Given the description of an element on the screen output the (x, y) to click on. 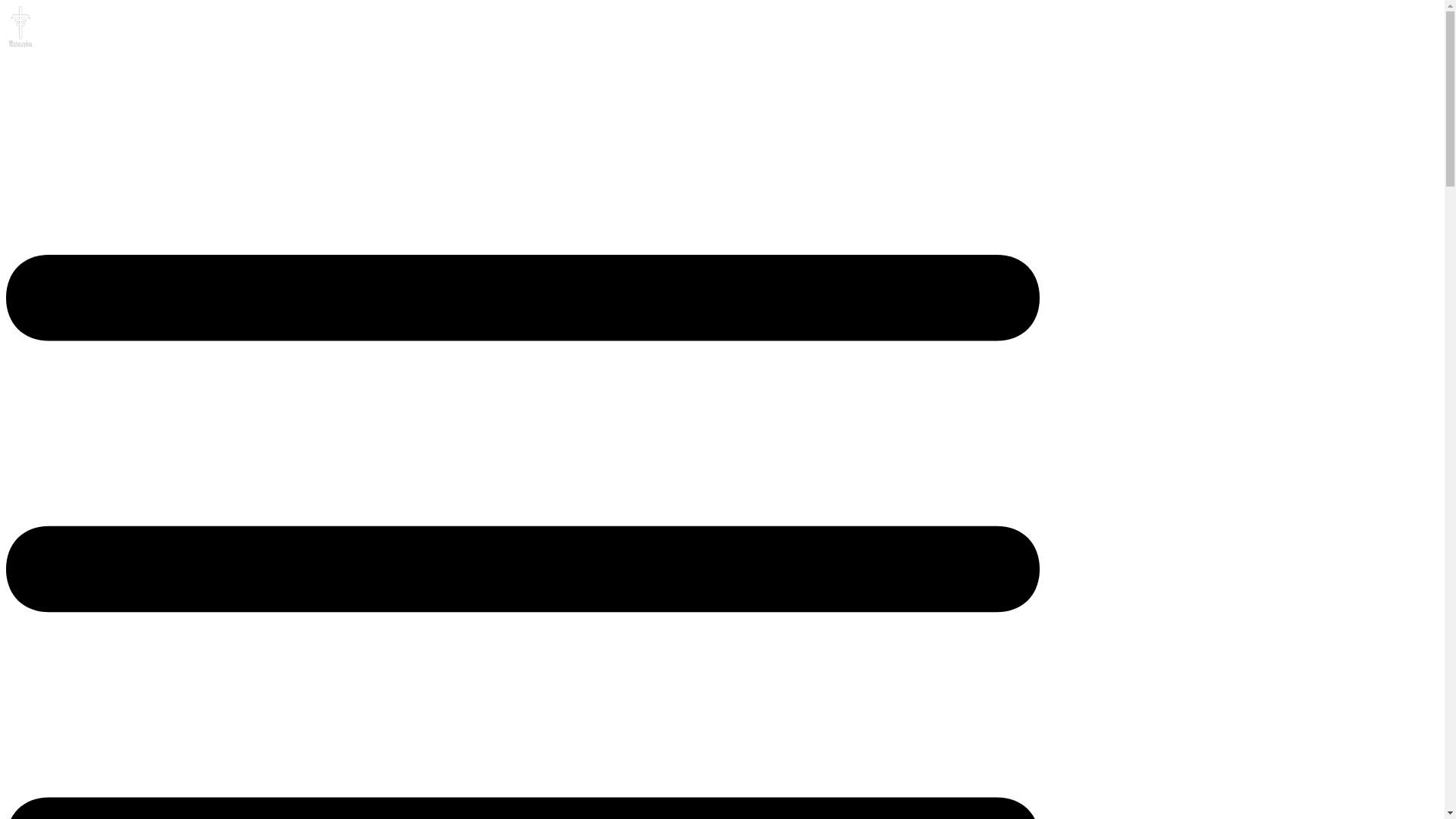
evania-logo Element type: hover (19, 27)
